Given the description of an element on the screen output the (x, y) to click on. 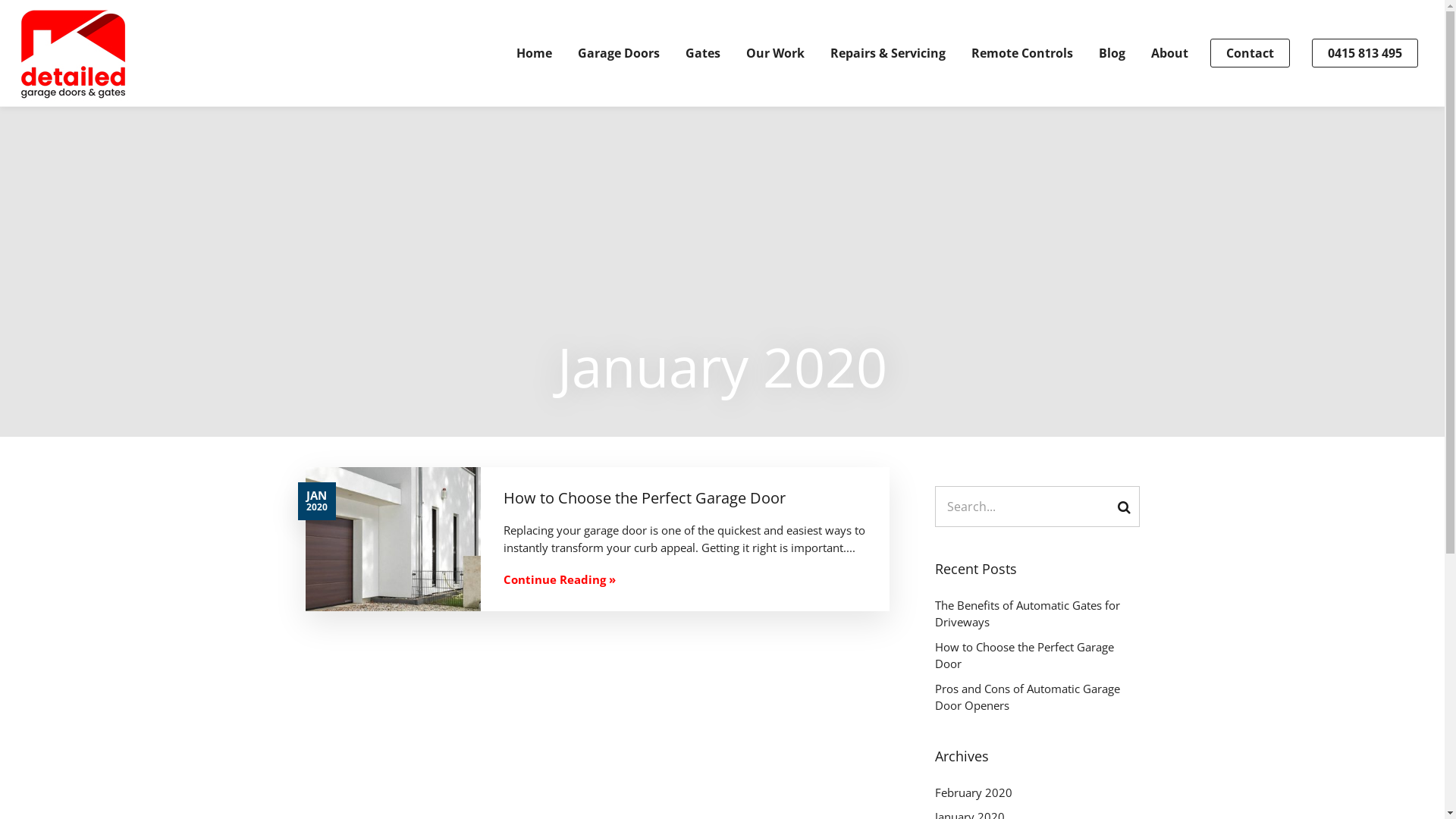
Contact Element type: text (1249, 52)
0415 813 495 Element type: text (1364, 52)
Repairs & Servicing Element type: text (887, 52)
Our Work Element type: text (775, 52)
February 2020 Element type: text (1036, 792)
Gates Element type: text (702, 52)
How to Choose the Perfect Garage Door Element type: text (1036, 655)
Blog Element type: text (1111, 52)
Garage Doors Element type: text (618, 52)
About Element type: text (1169, 52)
Pros and Cons of Automatic Garage Door Openers Element type: text (1036, 697)
The Benefits of Automatic Gates for Driveways Element type: text (1036, 613)
Home Element type: text (534, 52)
Remote Controls Element type: text (1022, 52)
